Given the description of an element on the screen output the (x, y) to click on. 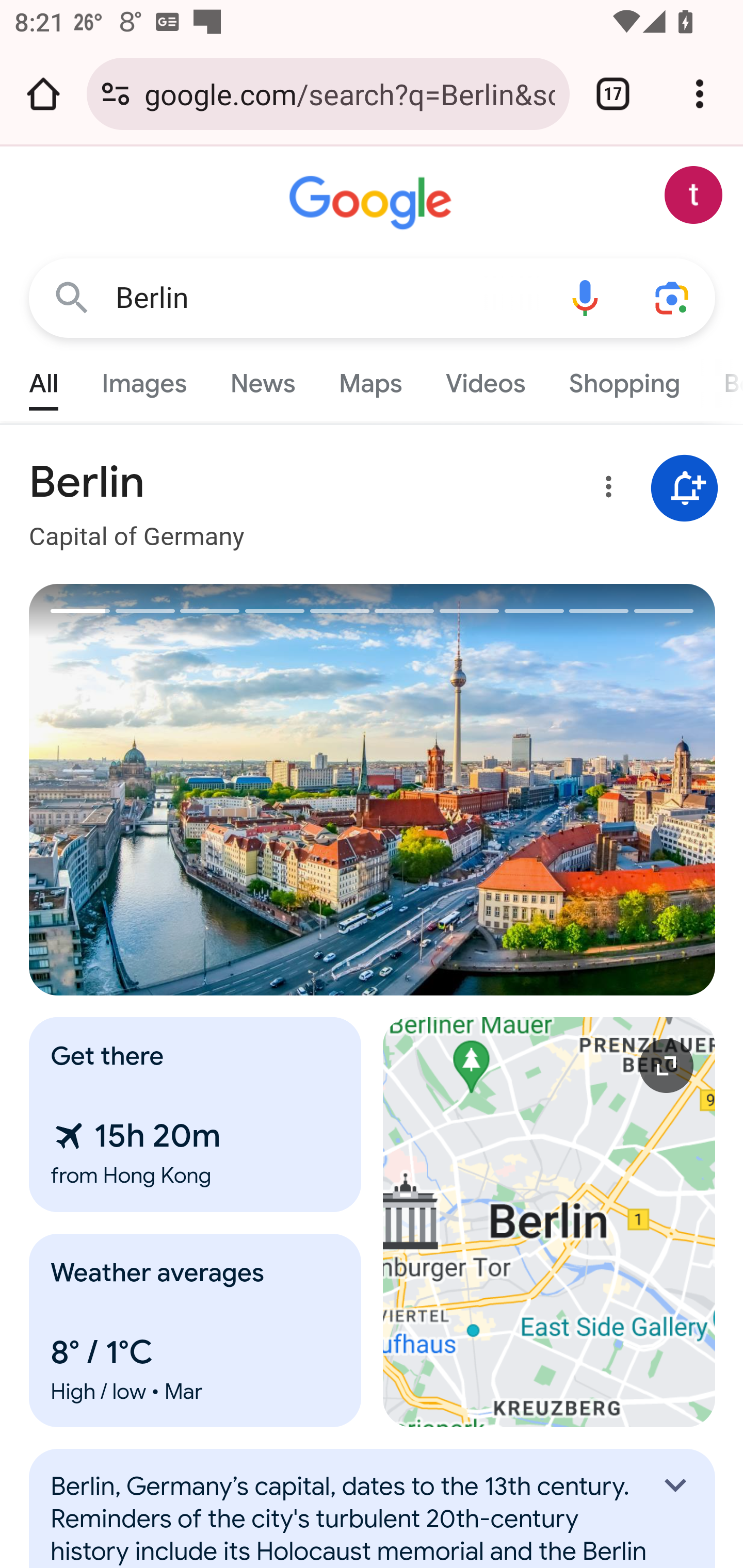
Open the home page (43, 93)
Connection is secure (115, 93)
Switch or close tabs (612, 93)
Customize and control Google Chrome (699, 93)
Google (372, 203)
Google Search (71, 296)
Search using your camera or photos (672, 296)
Berlin (328, 297)
Images (144, 378)
News (262, 378)
Maps (369, 378)
Videos (485, 378)
Shopping (623, 378)
Get notifications about Berlin (684, 489)
More options (605, 489)
Previous image (200, 790)
Next image (544, 790)
Expand map (549, 1222)
Weather averages 8° / 1°C High / low • Mar (195, 1330)
